Given the description of an element on the screen output the (x, y) to click on. 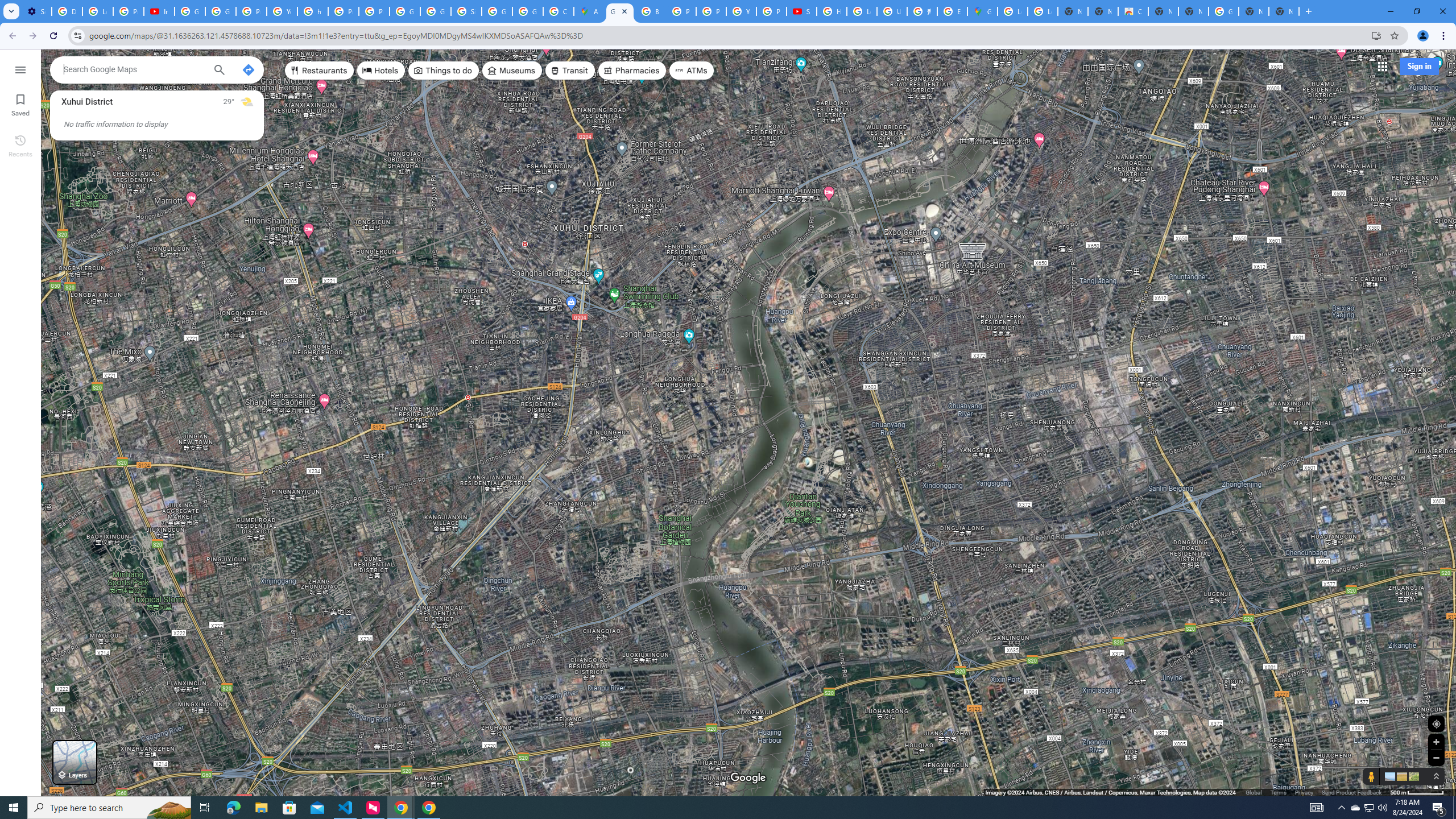
Search Google Maps (133, 69)
Show Street View coverage (1371, 776)
ATMs (691, 70)
Google Maps (619, 11)
Google Account Help (189, 11)
Google Images (1223, 11)
Directions (247, 69)
Hotels (381, 70)
Restaurants (319, 70)
